Given the description of an element on the screen output the (x, y) to click on. 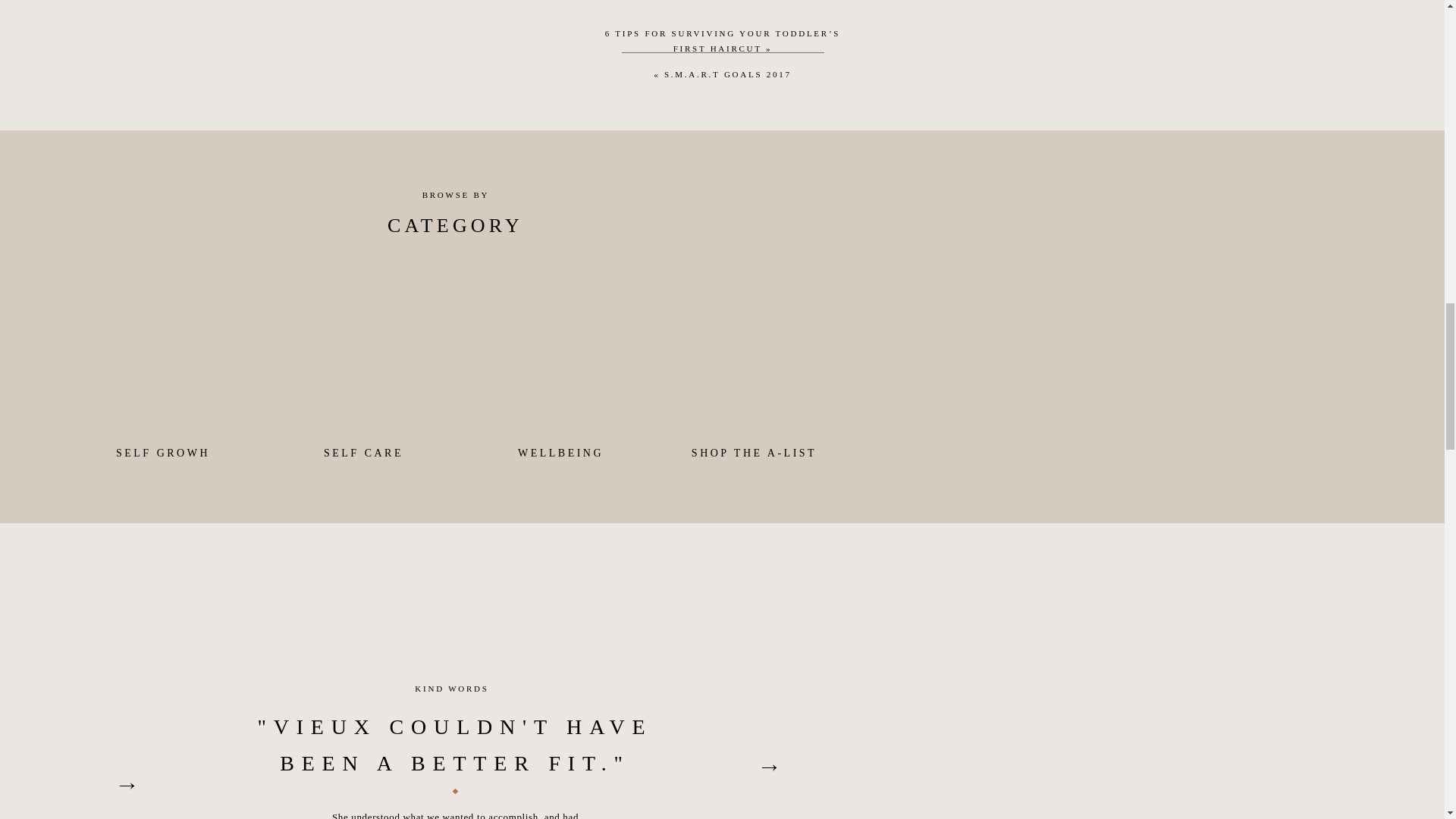
KIND WORDS (452, 688)
S.M.A.R.T GOALS 2017 (727, 73)
